Given the description of an element on the screen output the (x, y) to click on. 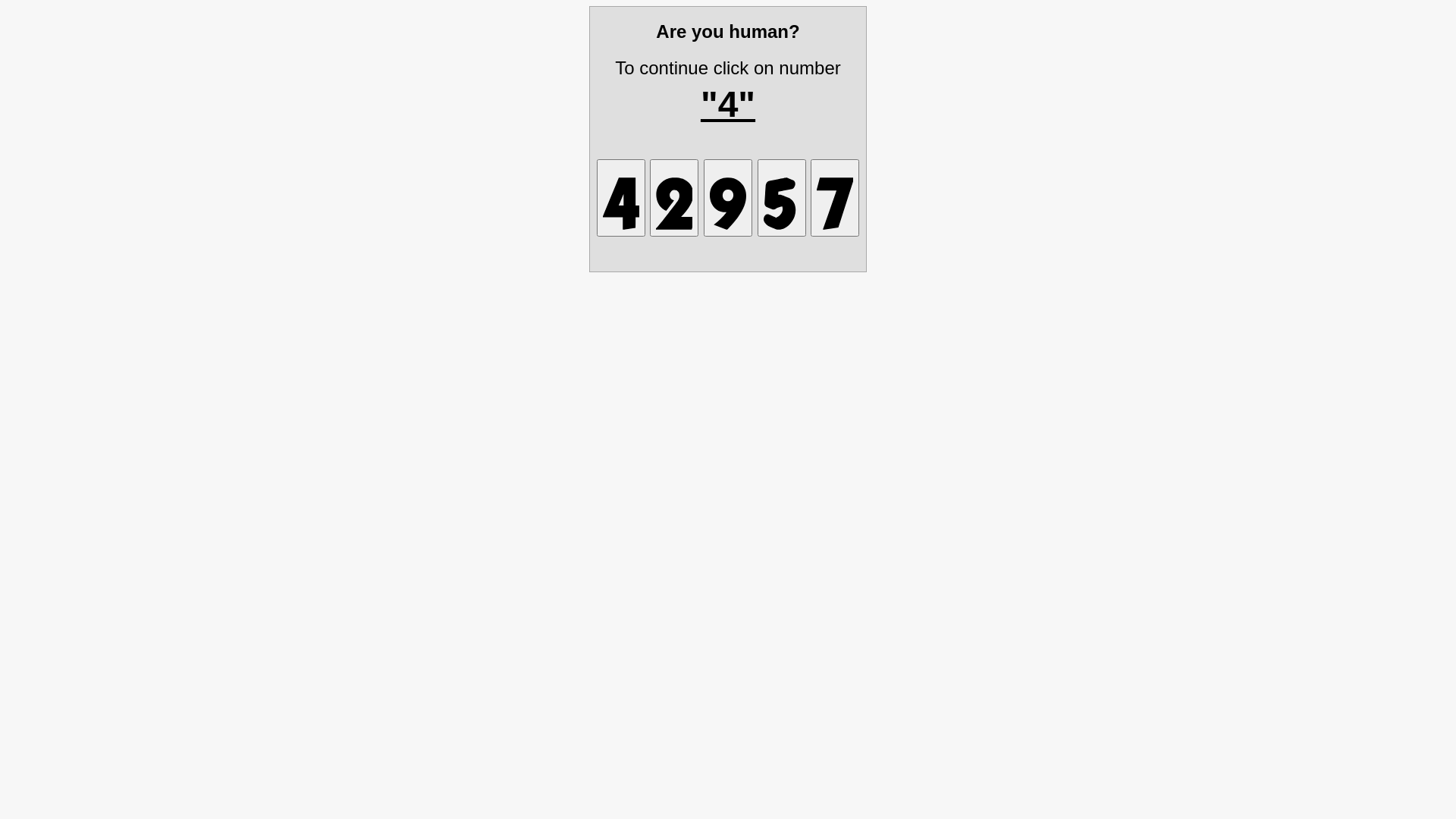
1732429658996559 Element type: text (620, 197)
1732429658892424 Element type: text (673, 197)
1732429658527091 Element type: text (727, 197)
1732429658891174 Element type: text (834, 197)
1732429658366331 Element type: text (781, 197)
